Given the description of an element on the screen output the (x, y) to click on. 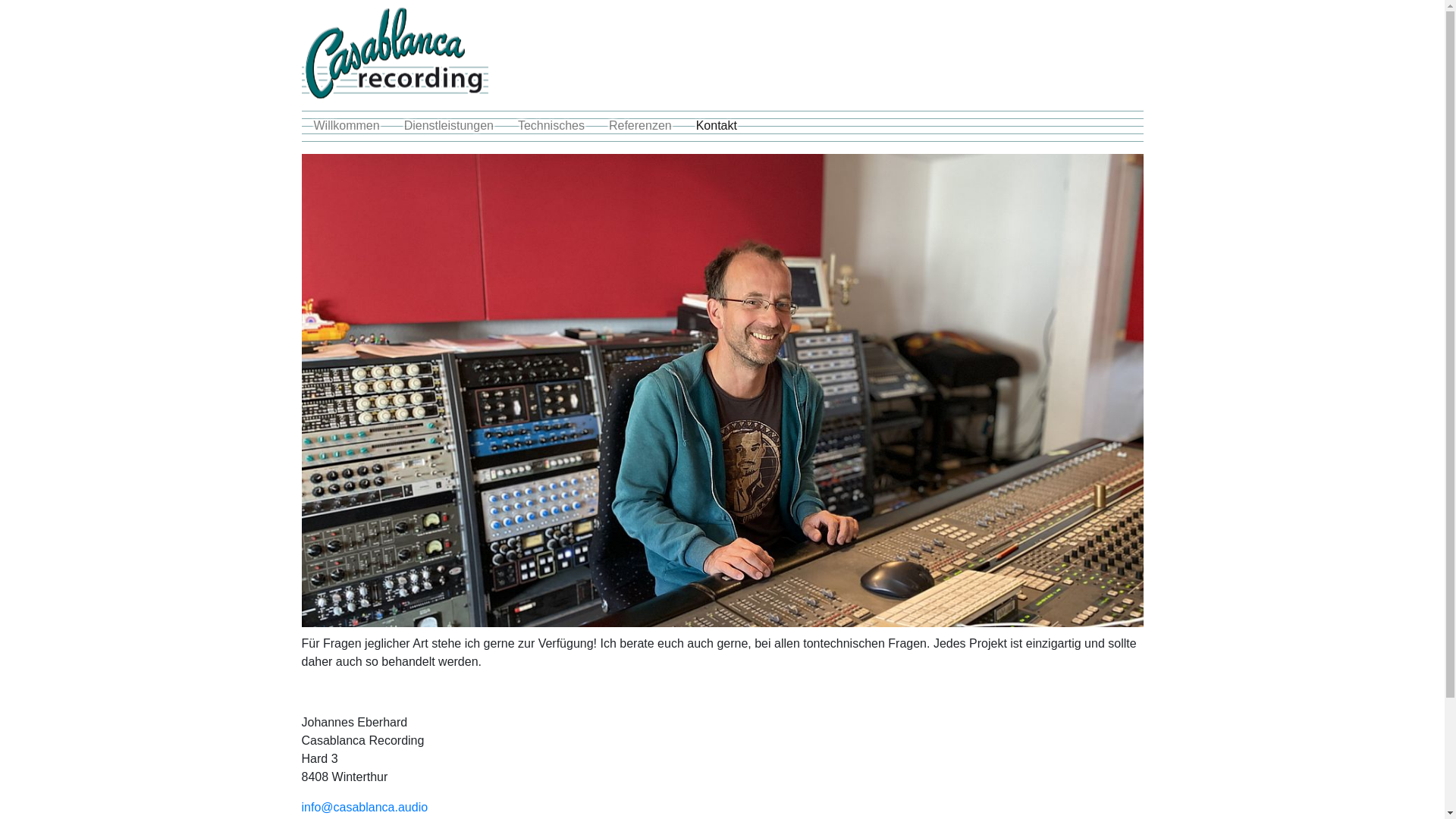
Willkommen Element type: text (346, 125)
Referenzen Element type: text (640, 125)
Kontakt Element type: text (716, 125)
Casablanca Recording Studio Element type: hover (394, 52)
Technisches Element type: text (550, 125)
info@casablanca.audio Element type: text (364, 806)
Dienstleistungen Element type: text (448, 125)
